Given the description of an element on the screen output the (x, y) to click on. 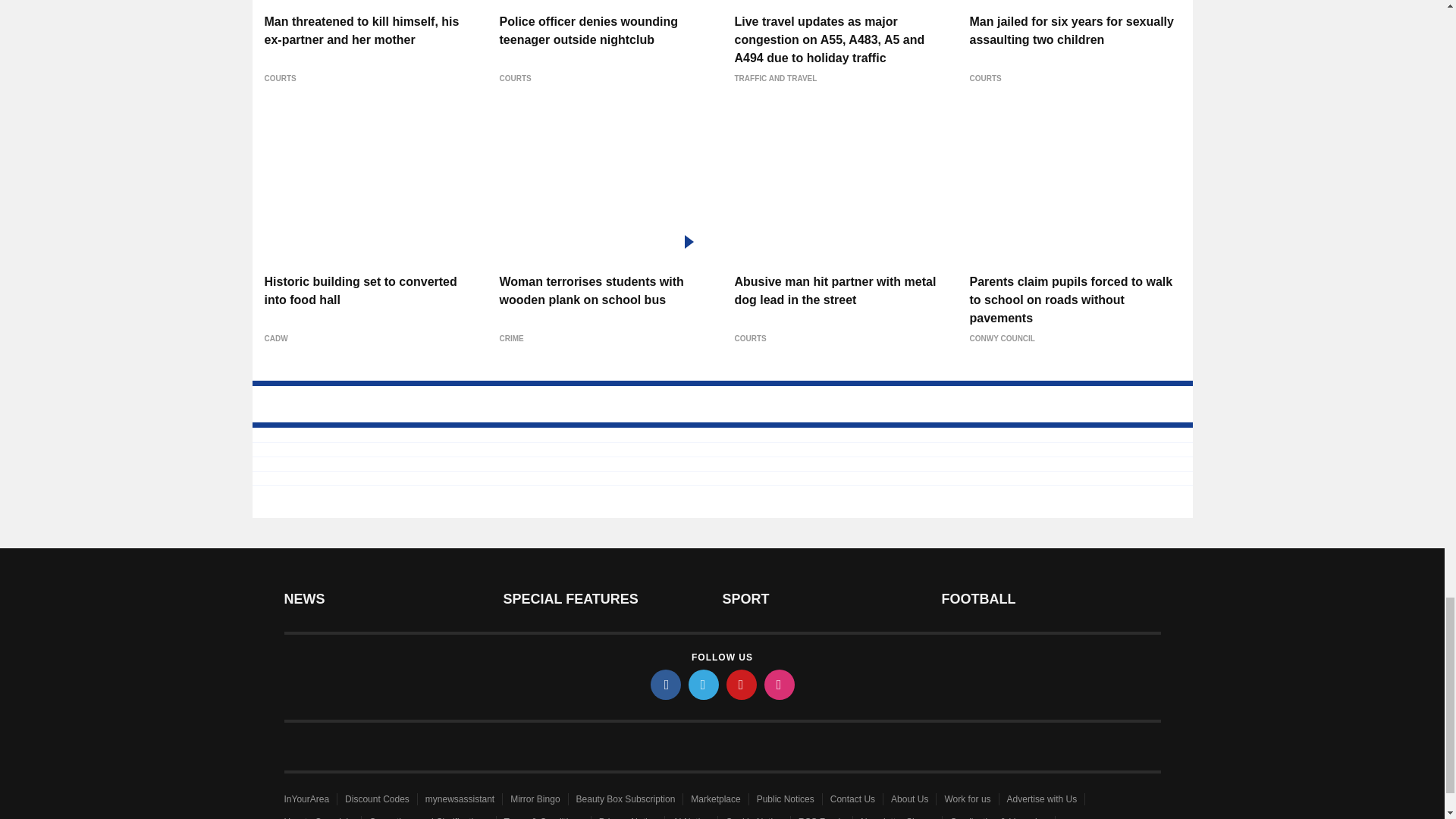
pinterest (741, 684)
facebook (665, 684)
instagram (779, 684)
twitter (703, 684)
